Given the description of an element on the screen output the (x, y) to click on. 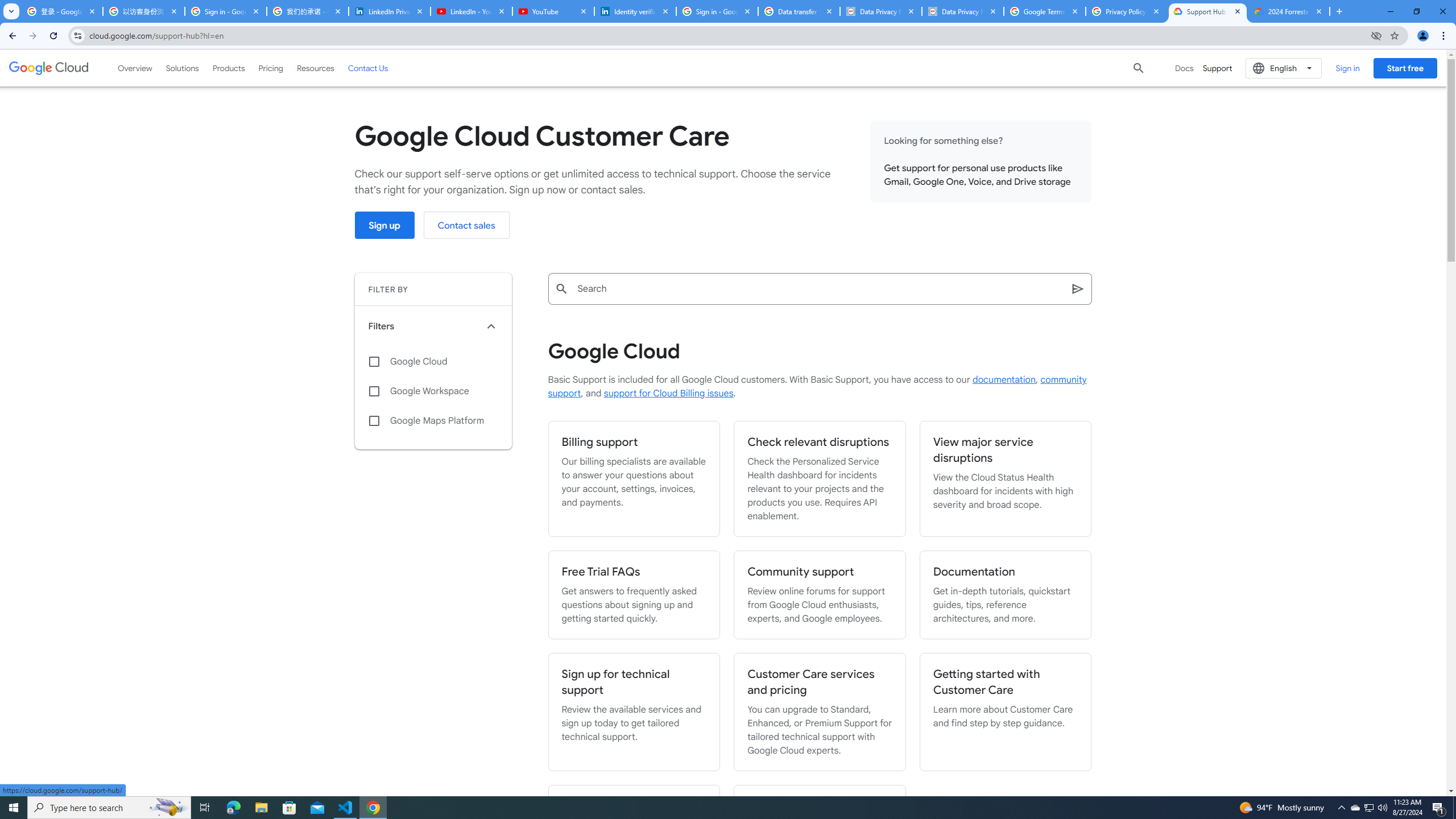
Address and search bar (726, 35)
Support Hub | Google Cloud (1207, 11)
Close (1318, 11)
Products (228, 67)
Back (10, 35)
New Tab (1338, 11)
Start free (1405, 67)
Sign in - Google Accounts (716, 11)
